Given the description of an element on the screen output the (x, y) to click on. 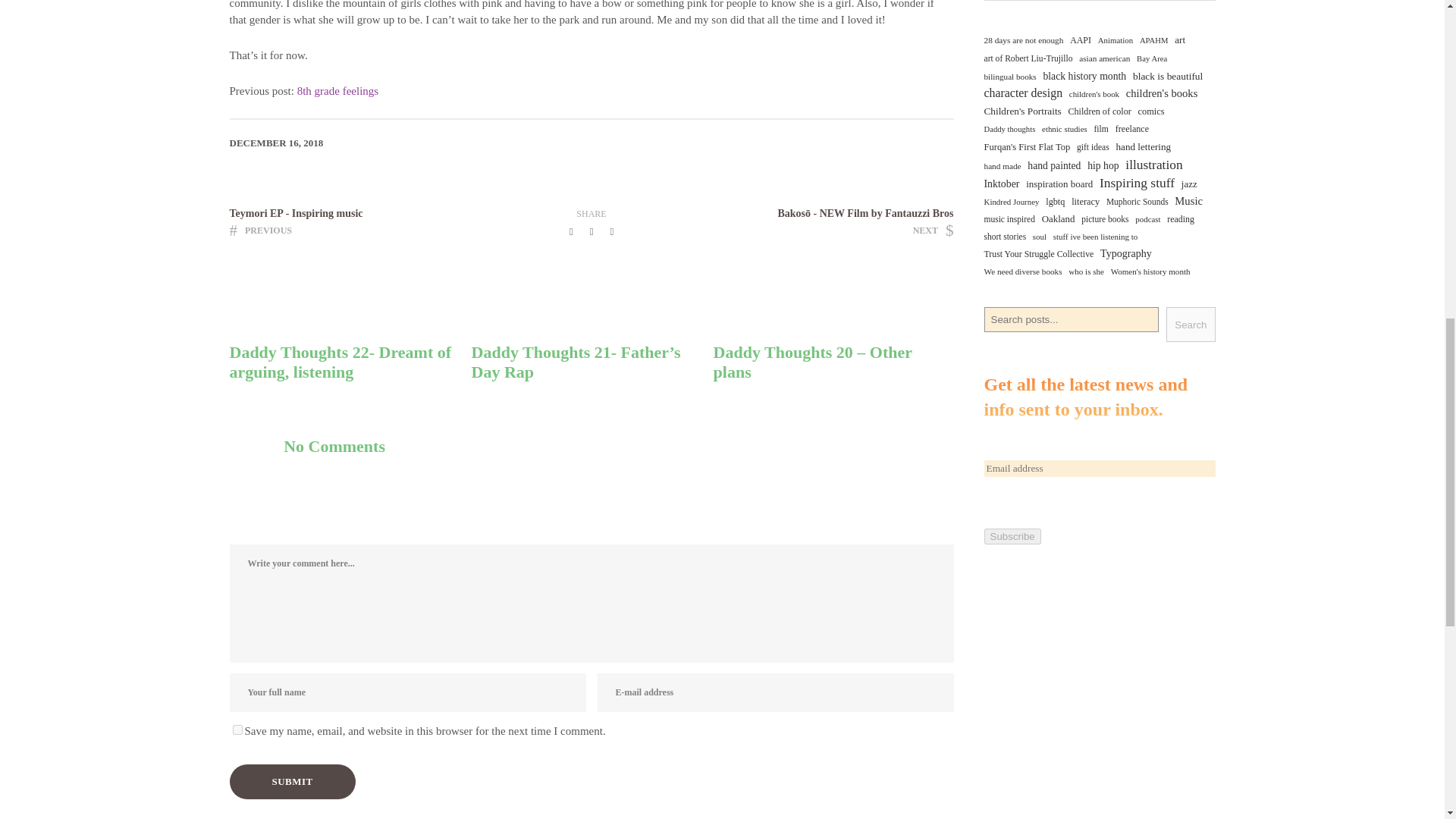
yes (236, 729)
Submit (291, 782)
Daddy Thoughts 22- Dreamt of arguing, listening (354, 224)
8th grade feelings (348, 363)
Daddy Thoughts 22- Dreamt of arguing, listening (337, 91)
